Given the description of an element on the screen output the (x, y) to click on. 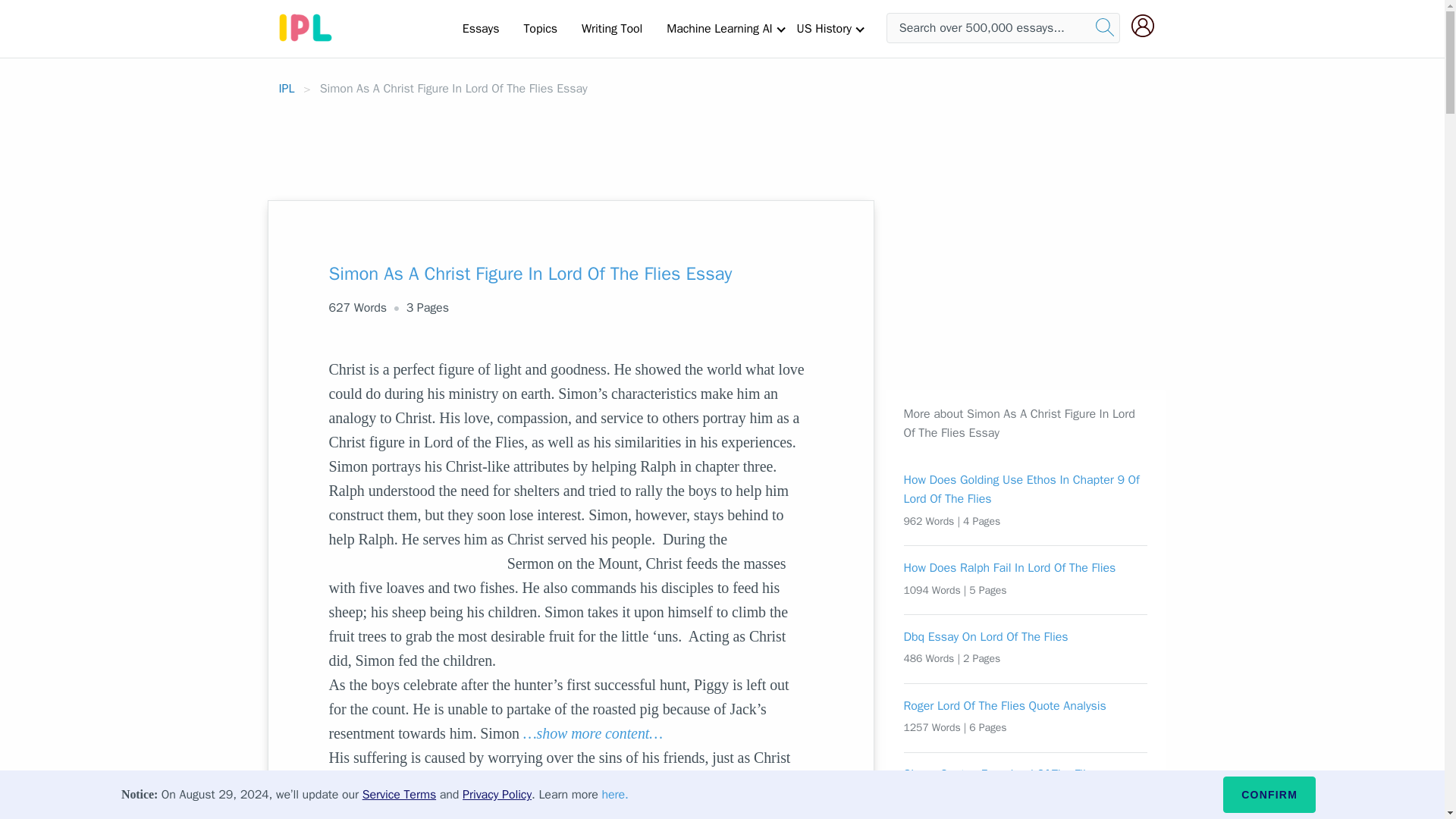
Essays (480, 28)
US History (823, 28)
Machine Learning AI (718, 28)
Writing Tool (611, 28)
IPL (287, 88)
Topics (540, 28)
